Given the description of an element on the screen output the (x, y) to click on. 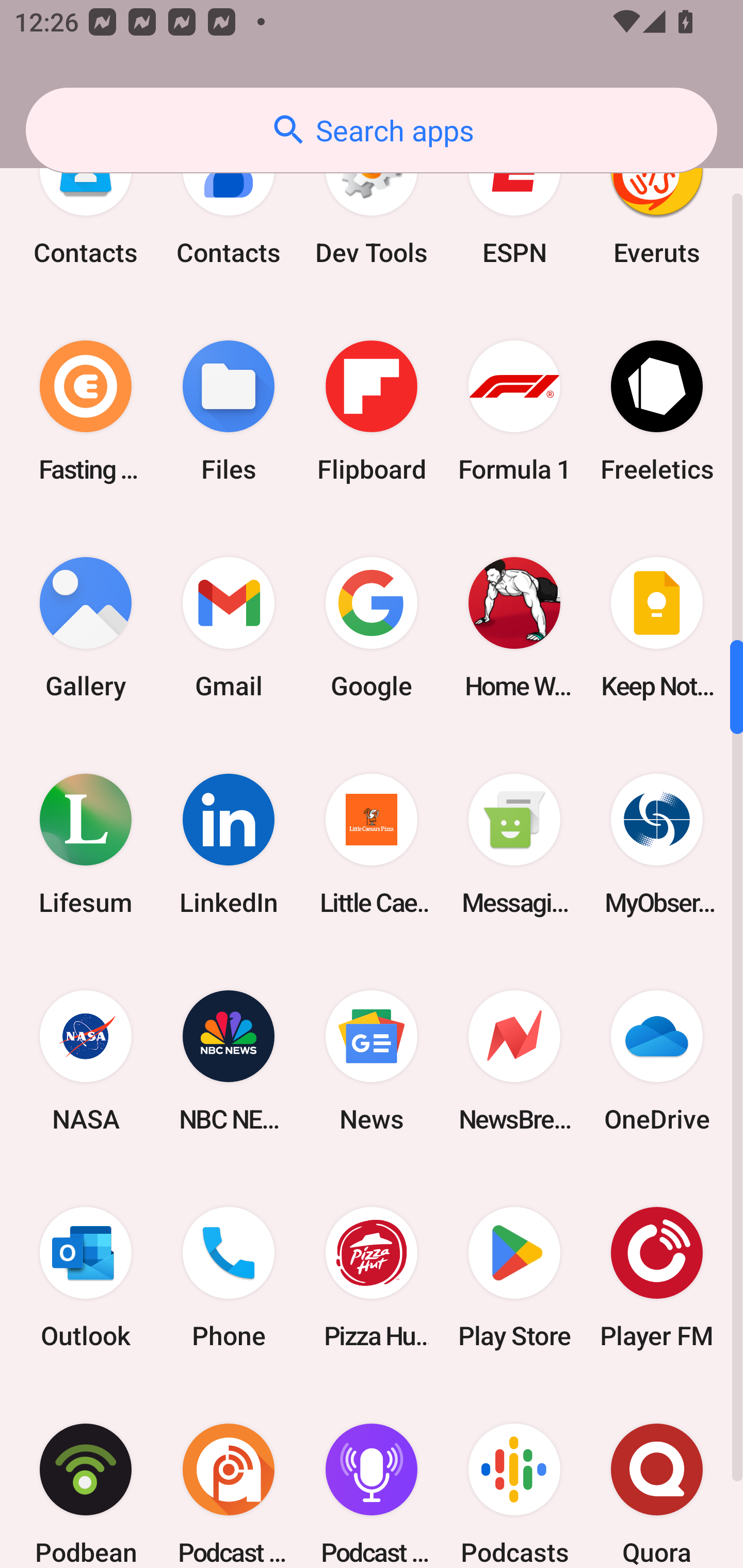
  Search apps (371, 130)
Contacts (85, 202)
Contacts (228, 202)
Dev Tools (371, 202)
ESPN (514, 202)
Everuts (656, 202)
Fasting Coach (85, 410)
Files (228, 410)
Flipboard (371, 410)
Formula 1 (514, 410)
Freeletics (656, 410)
Gallery (85, 627)
Gmail (228, 627)
Google (371, 627)
Home Workout (514, 627)
Keep Notes (656, 627)
Lifesum (85, 844)
LinkedIn (228, 844)
Little Caesars Pizza (371, 844)
Messaging (514, 844)
MyObservatory (656, 844)
NASA (85, 1061)
NBC NEWS (228, 1061)
News (371, 1061)
NewsBreak (514, 1061)
OneDrive (656, 1061)
Outlook (85, 1277)
Phone (228, 1277)
Pizza Hut HK & Macau (371, 1277)
Play Store (514, 1277)
Player FM (656, 1277)
Podbean (85, 1477)
Podcast Addict (228, 1477)
Podcast Player (371, 1477)
Podcasts (514, 1477)
Quora (656, 1477)
